Given the description of an element on the screen output the (x, y) to click on. 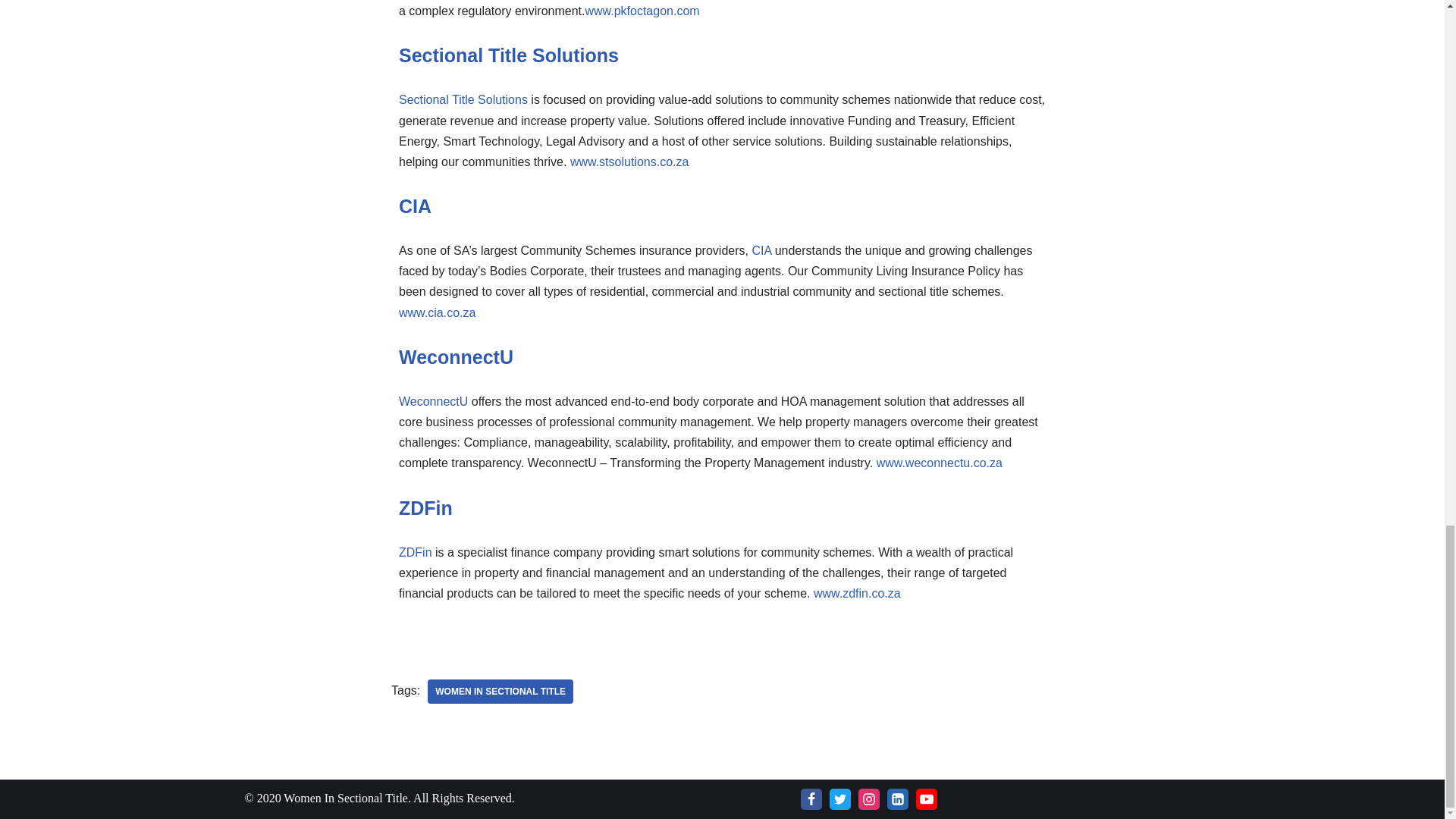
Sectional Title Solutions (462, 99)
www.cia.co.za (437, 312)
WeconnectU (432, 400)
CIA (414, 206)
women in sectional title (500, 691)
www.stsolutions.co.za (629, 161)
www.weconnectu.co.za (939, 462)
Youtube (926, 798)
www.pkfoctagon.com (641, 10)
WeconnectU (455, 356)
Facebook (811, 798)
Instagram (869, 798)
Sectional Title Solutions (508, 55)
LinkedIn (897, 798)
Twitter (839, 798)
